Given the description of an element on the screen output the (x, y) to click on. 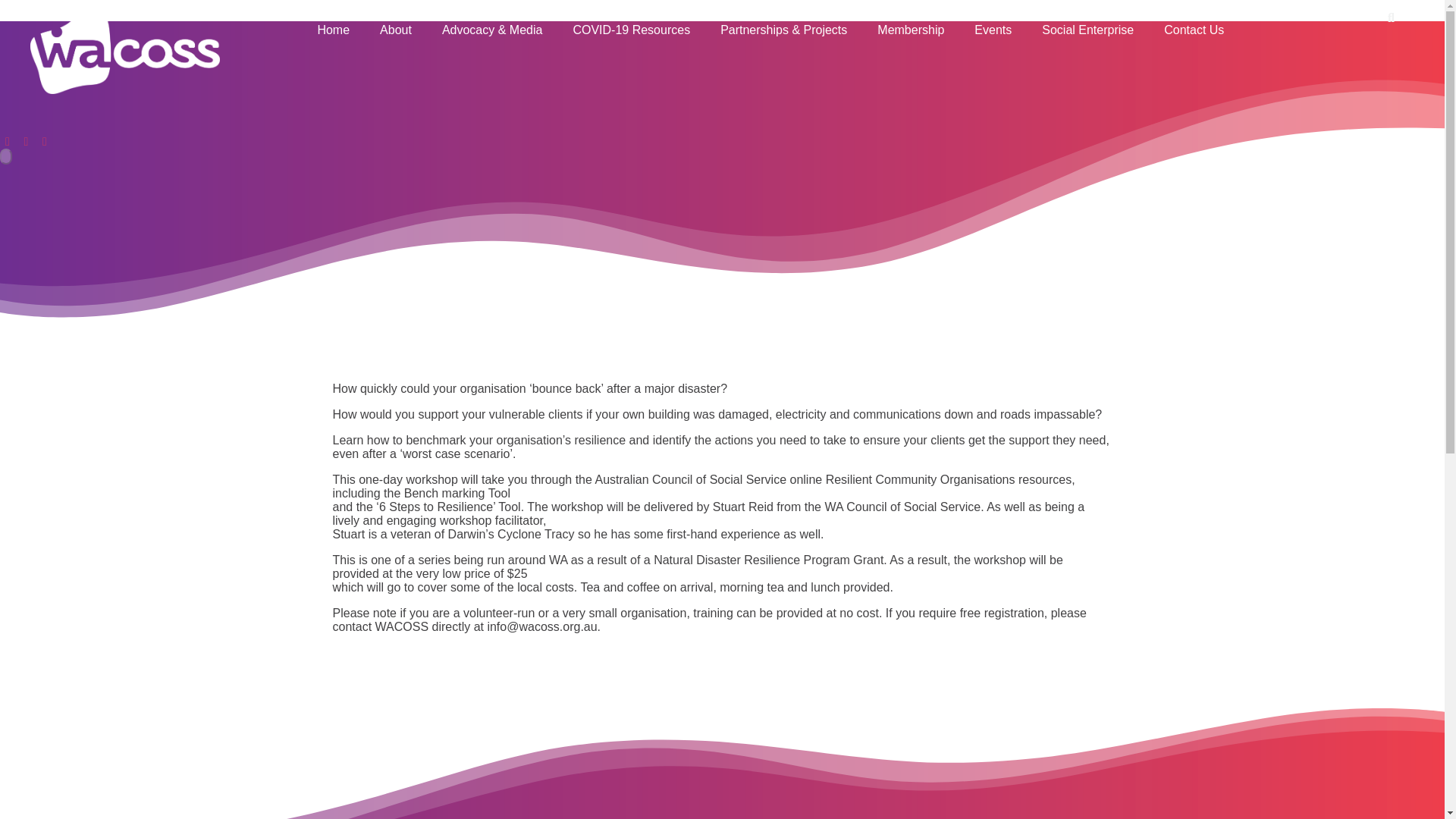
COVID-19 Resources (630, 30)
Facebook (8, 141)
Membership (910, 30)
Linkedin (44, 141)
Home (333, 30)
Twitter (26, 141)
About (395, 30)
